Given the description of an element on the screen output the (x, y) to click on. 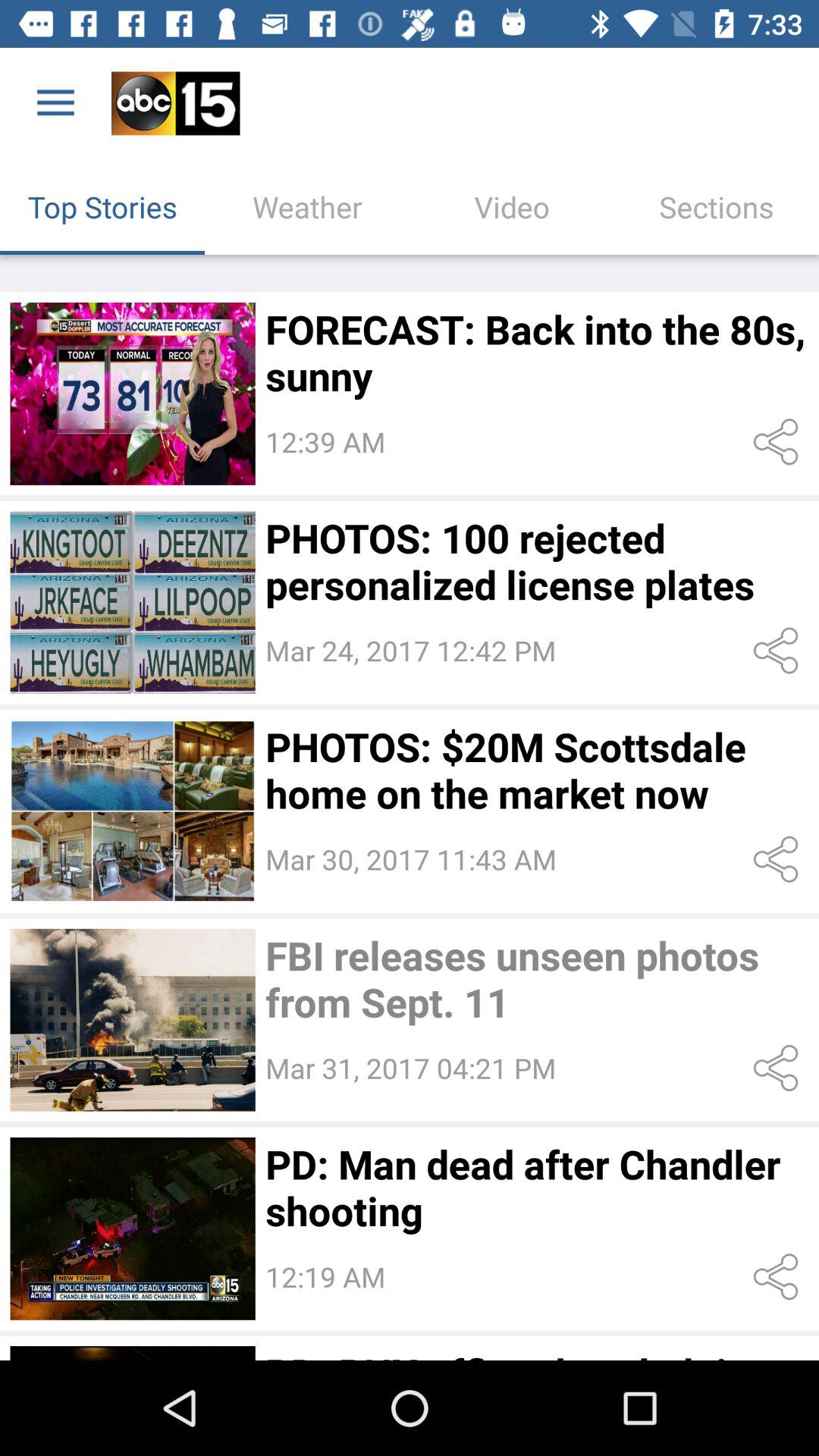
select story (132, 1019)
